Given the description of an element on the screen output the (x, y) to click on. 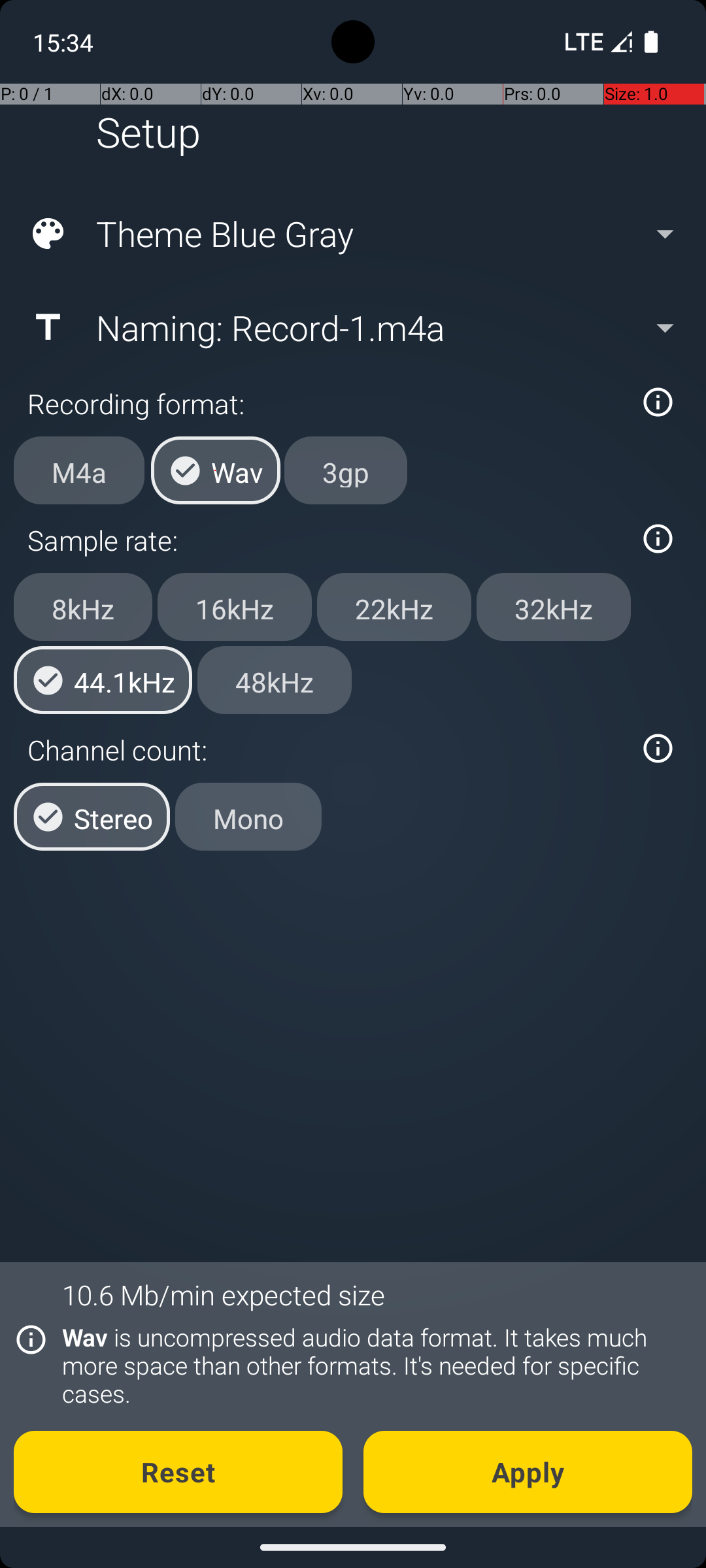
10.6 Mb/min expected size Element type: android.widget.TextView (223, 1294)
Wav is uncompressed audio data format. It takes much more space than other formats. It's needed for specific cases. Element type: android.widget.TextView (370, 1364)
Phone one bar. Element type: android.widget.FrameLayout (595, 41)
